Given the description of an element on the screen output the (x, y) to click on. 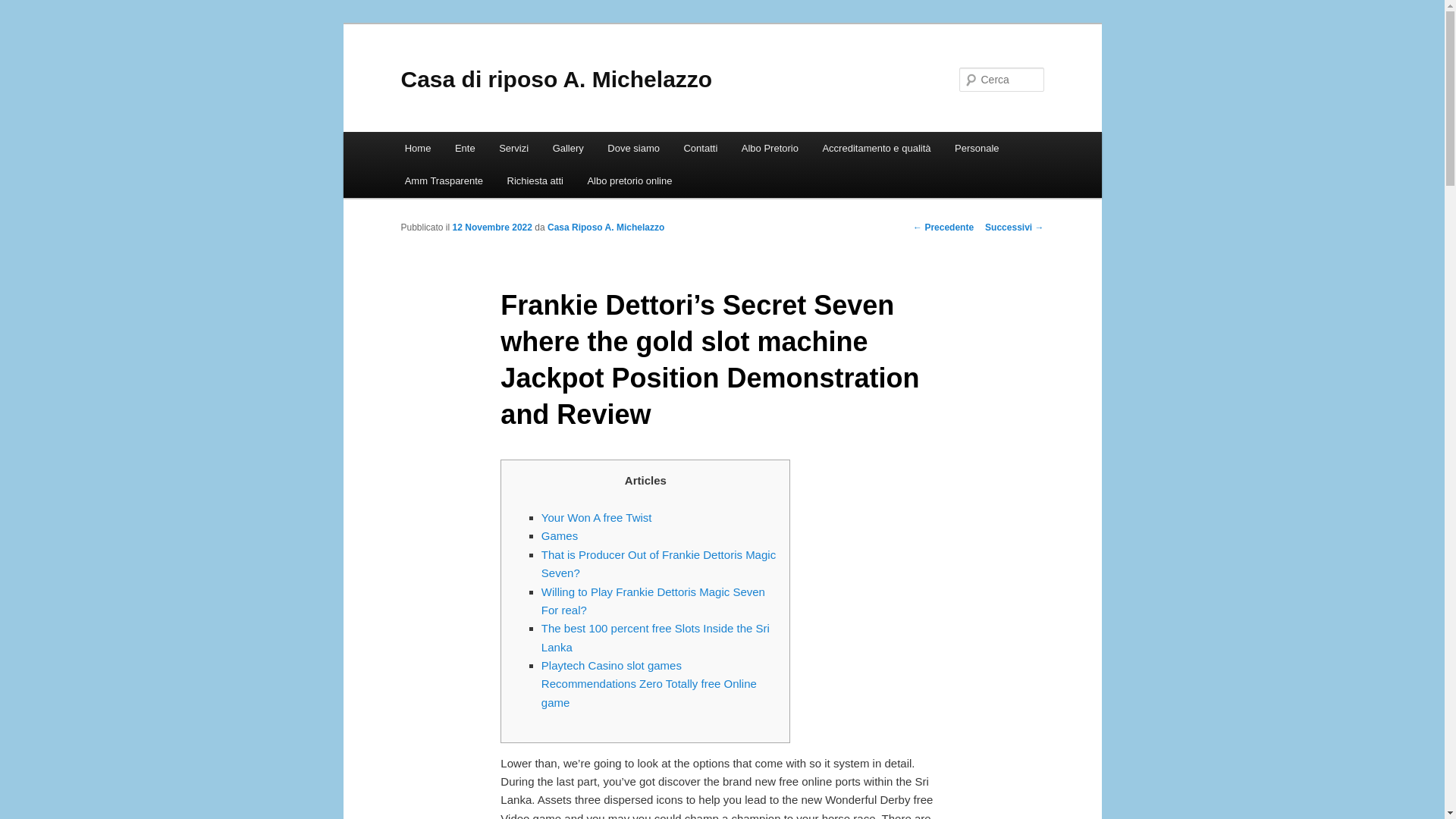
Albo Pretorio (769, 147)
Personale (976, 147)
Cerca (21, 8)
Your Won A free Twist (596, 517)
Games (559, 535)
Gallery (567, 147)
Ente (464, 147)
Willing to Play Frankie Dettoris Magic Seven For real? (653, 600)
Contatti (700, 147)
Dove siamo (633, 147)
Visualizza tutti gli articoli di Casa Riposo A. Michelazzo (605, 226)
Casa Riposo A. Michelazzo (605, 226)
Servizi (513, 147)
